Given the description of an element on the screen output the (x, y) to click on. 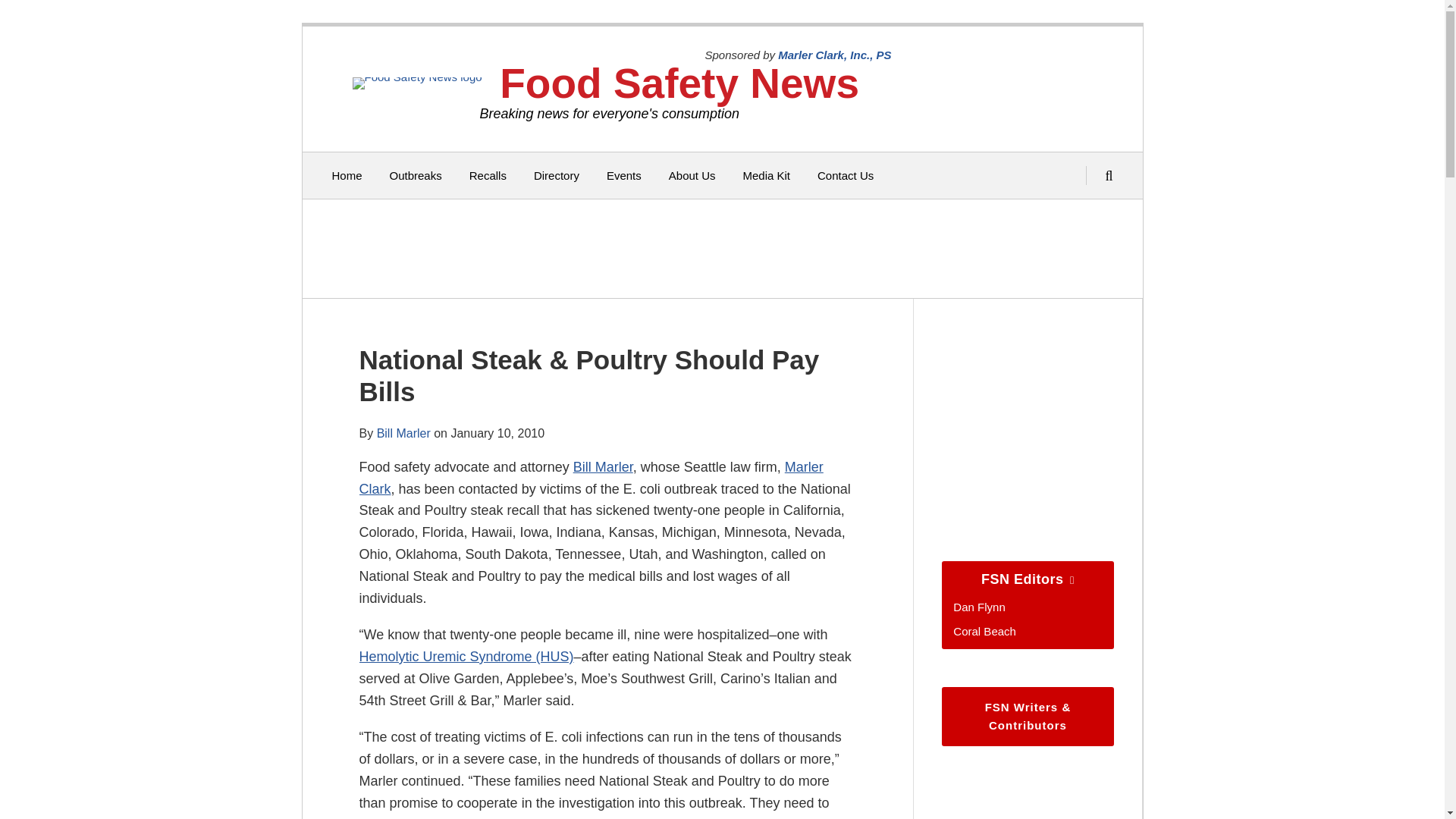
Directory (556, 176)
About Us (692, 176)
Home (346, 176)
Coral Beach (984, 631)
Events (624, 176)
Bill Marler (603, 467)
Marler Clark (591, 477)
Outbreaks (416, 176)
Media Kit (766, 176)
Food Safety News (679, 83)
